Given the description of an element on the screen output the (x, y) to click on. 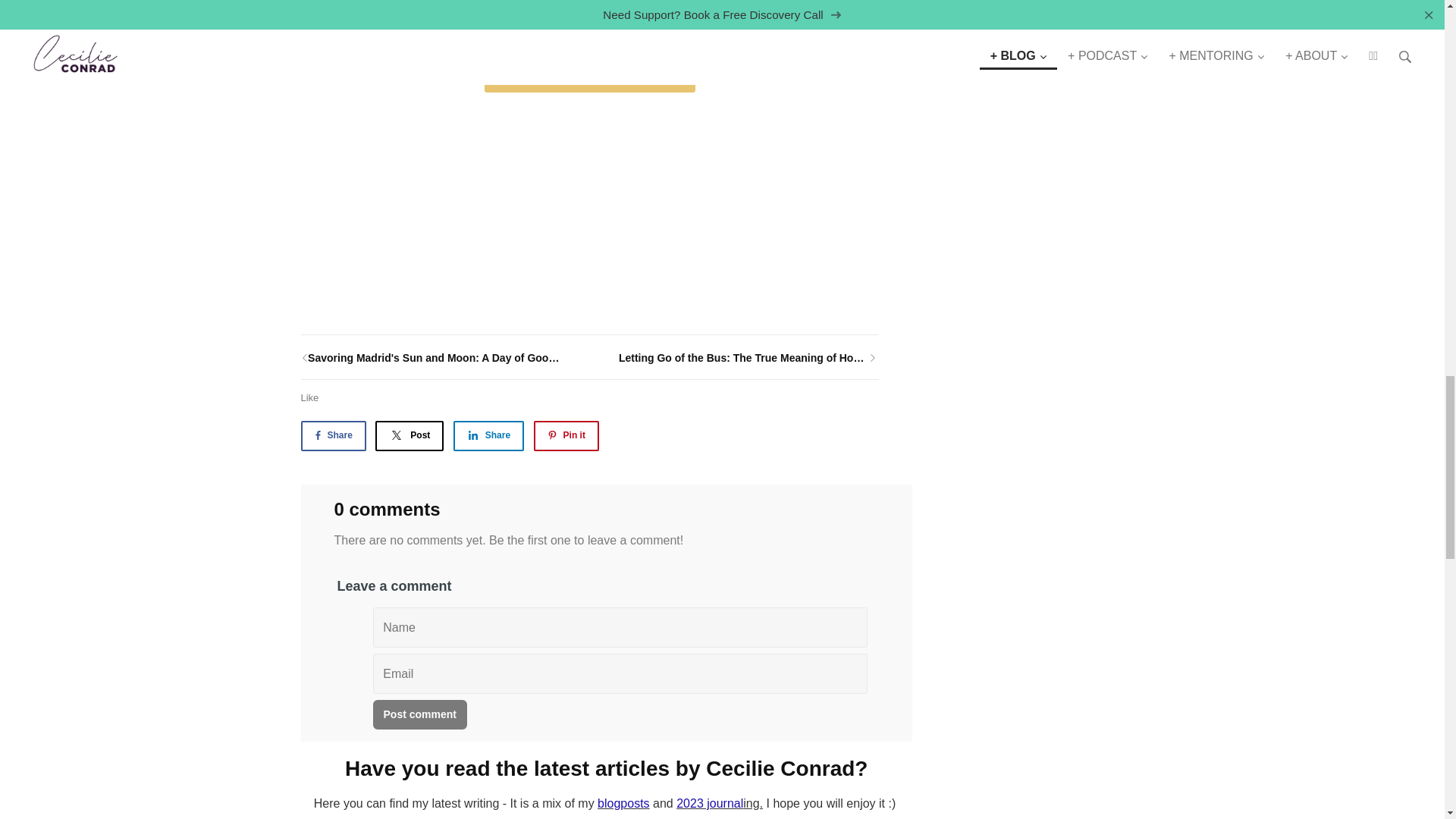
More images on Facebook (589, 70)
Like (308, 397)
Pin on Pinterest (566, 435)
Post (409, 435)
Share (488, 435)
Share on LinkedIn (488, 435)
Post comment (419, 714)
Post on X (409, 435)
Post comment (419, 714)
Pin it (566, 435)
2023 journal (709, 802)
blogposts (622, 802)
Share (332, 435)
Share on Facebook (332, 435)
